Given the description of an element on the screen output the (x, y) to click on. 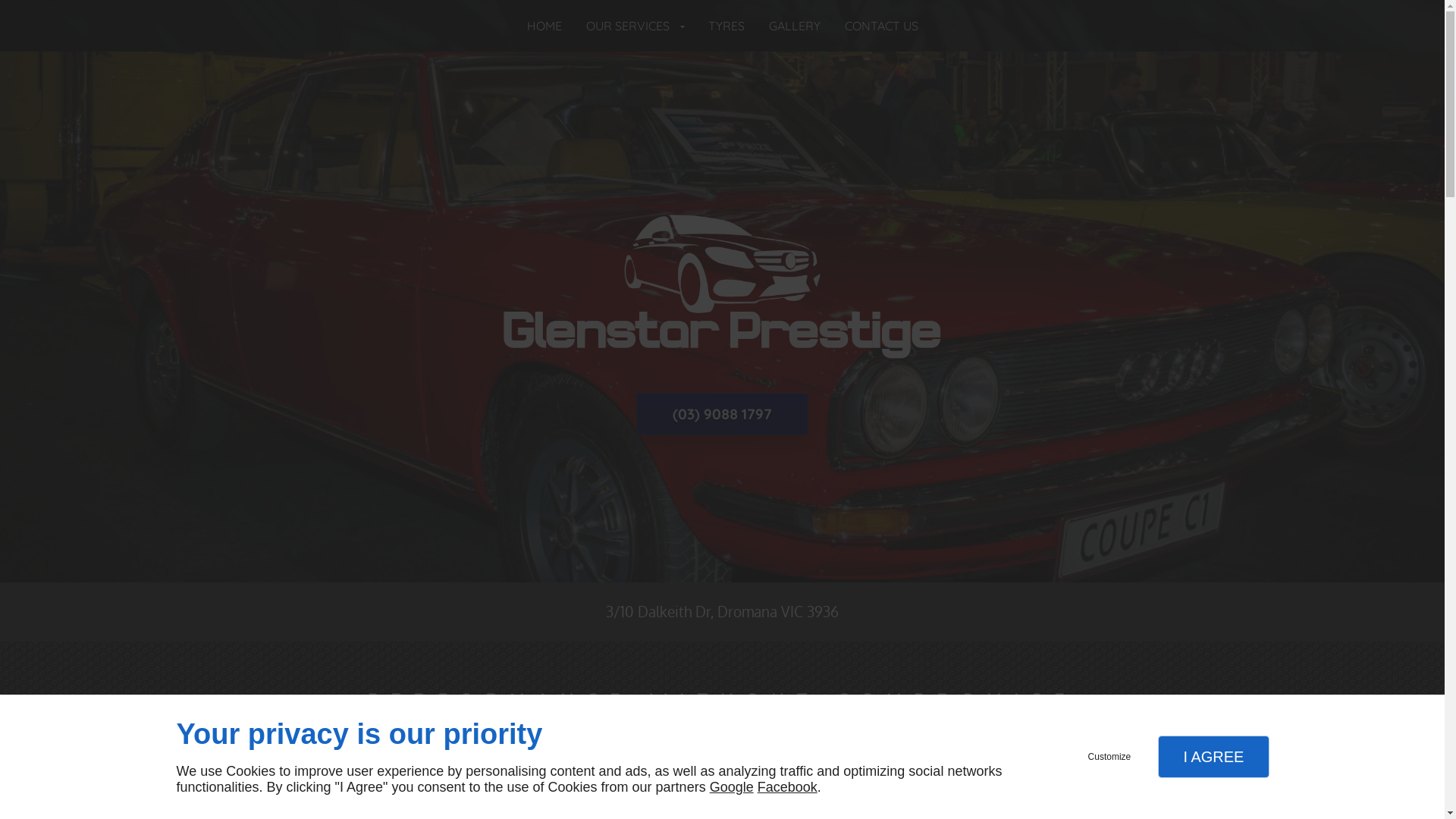
OUR SERVICES Element type: text (634, 25)
CALL US NOW Element type: text (790, 781)
GALLERY Element type: text (794, 25)
Facebook Element type: text (787, 786)
CONTACT US Element type: text (881, 25)
HOME Element type: text (543, 25)
(03) 9088 1797 Element type: text (722, 413)
CONTACT US Element type: text (650, 781)
Google Element type: text (731, 786)
TYRES Element type: text (726, 25)
